Given the description of an element on the screen output the (x, y) to click on. 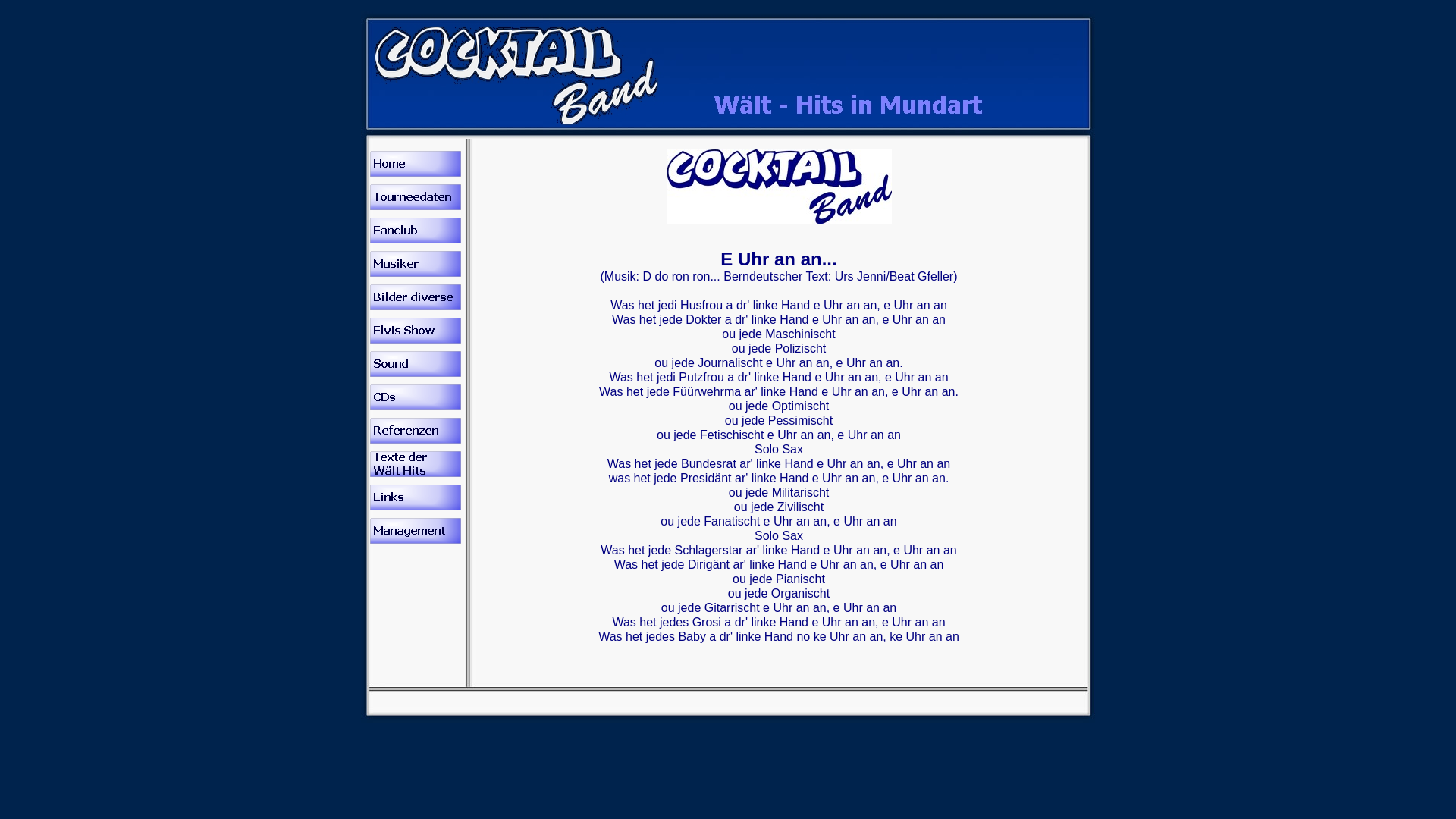
COCKTAIL Band Tourdaten Element type: hover (415, 197)
COCKTAIL Band Mitglieder Element type: hover (415, 263)
COCKTAIL Band Management Kontaktadresse Element type: hover (415, 530)
COCKTAIL Band Fanclub Element type: hover (415, 230)
COCKTAIL Band Diverse Bilder Band Element type: hover (415, 297)
COCKTAIL Band Sound Beispiele Element type: hover (415, 363)
COCKTAIL Band Links Element type: hover (415, 497)
COCKTAIL Band Bilder der Bluesbrothers Show Element type: hover (415, 330)
